Given the description of an element on the screen output the (x, y) to click on. 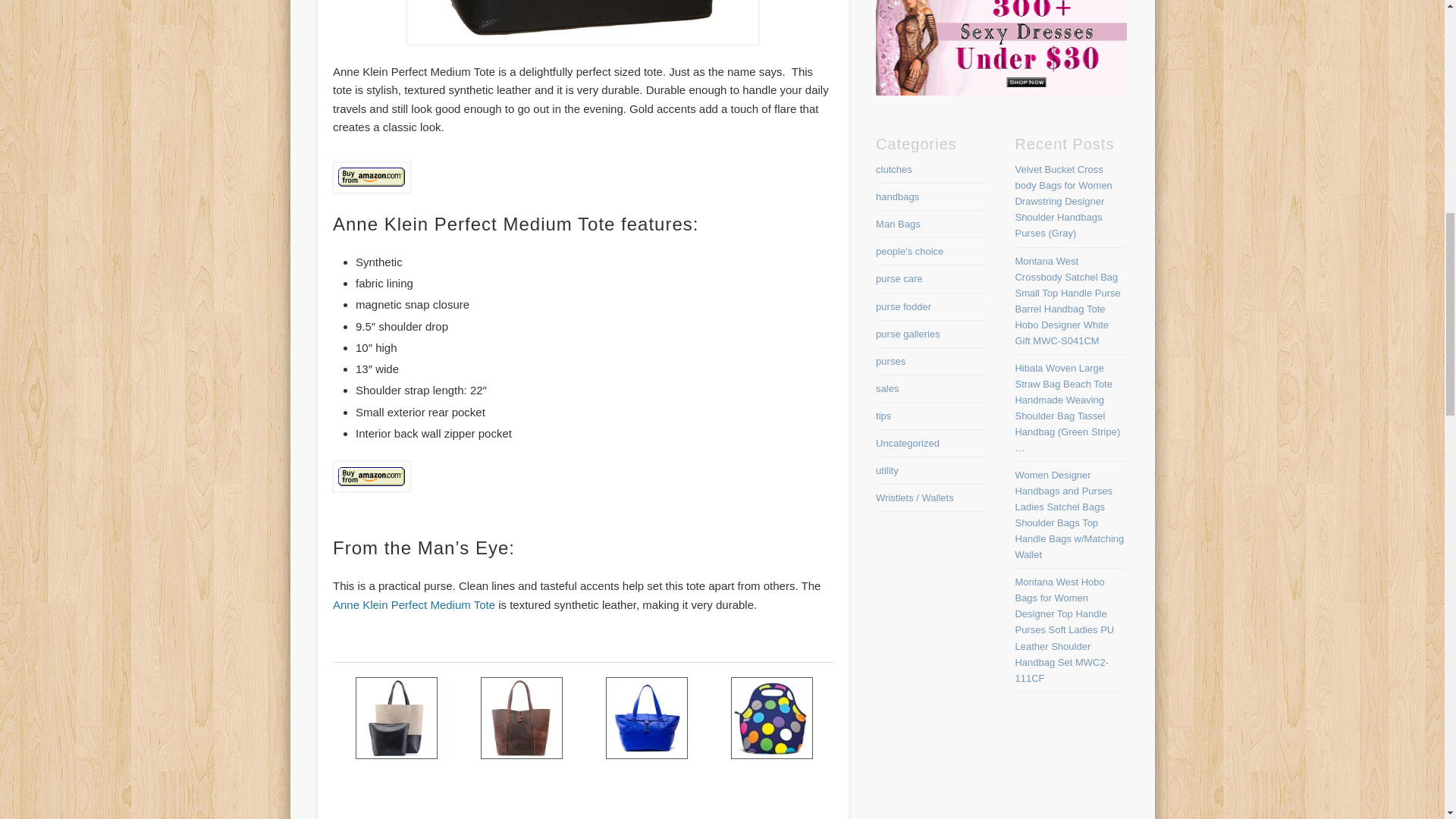
LivingSocial Sale Tote Bag by Isaac Mizrahi (647, 784)
Anne Klein Perfect Medium Tote (414, 604)
Women Handbag, Shoulder Bag,Tote Bag with Sma... (397, 784)
Neoprene Gourmet Getaway Lunch Tote by BUILT (772, 784)
TOP-BAG New Vintage Cow Leather Handbag, Tote... (522, 784)
